Given the description of an element on the screen output the (x, y) to click on. 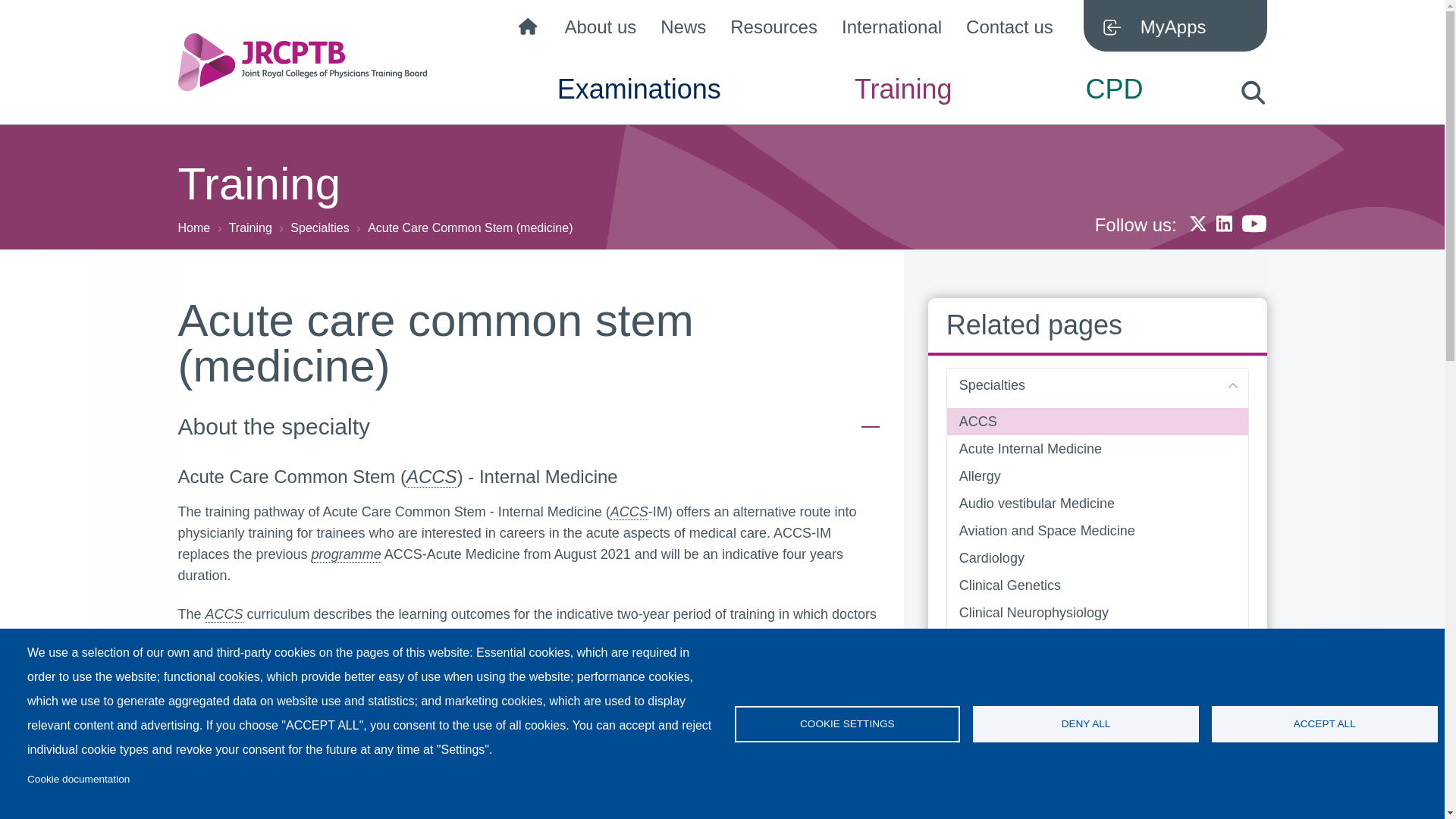
International (891, 30)
Examinations (638, 102)
Resources (773, 30)
Contact us (1009, 30)
About us (600, 30)
News (683, 30)
